Given the description of an element on the screen output the (x, y) to click on. 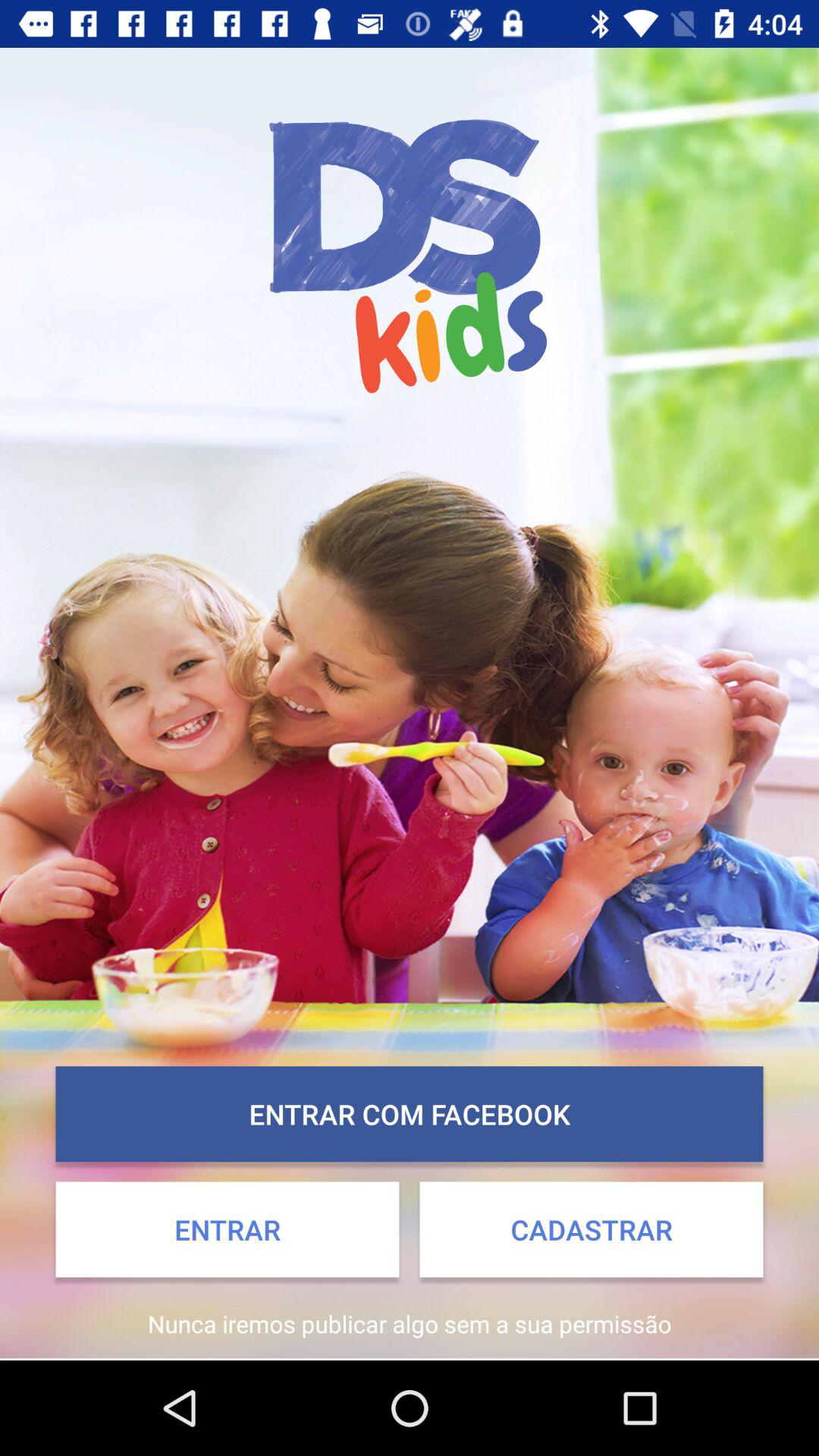
turn off the item to the right of entrar icon (591, 1229)
